Given the description of an element on the screen output the (x, y) to click on. 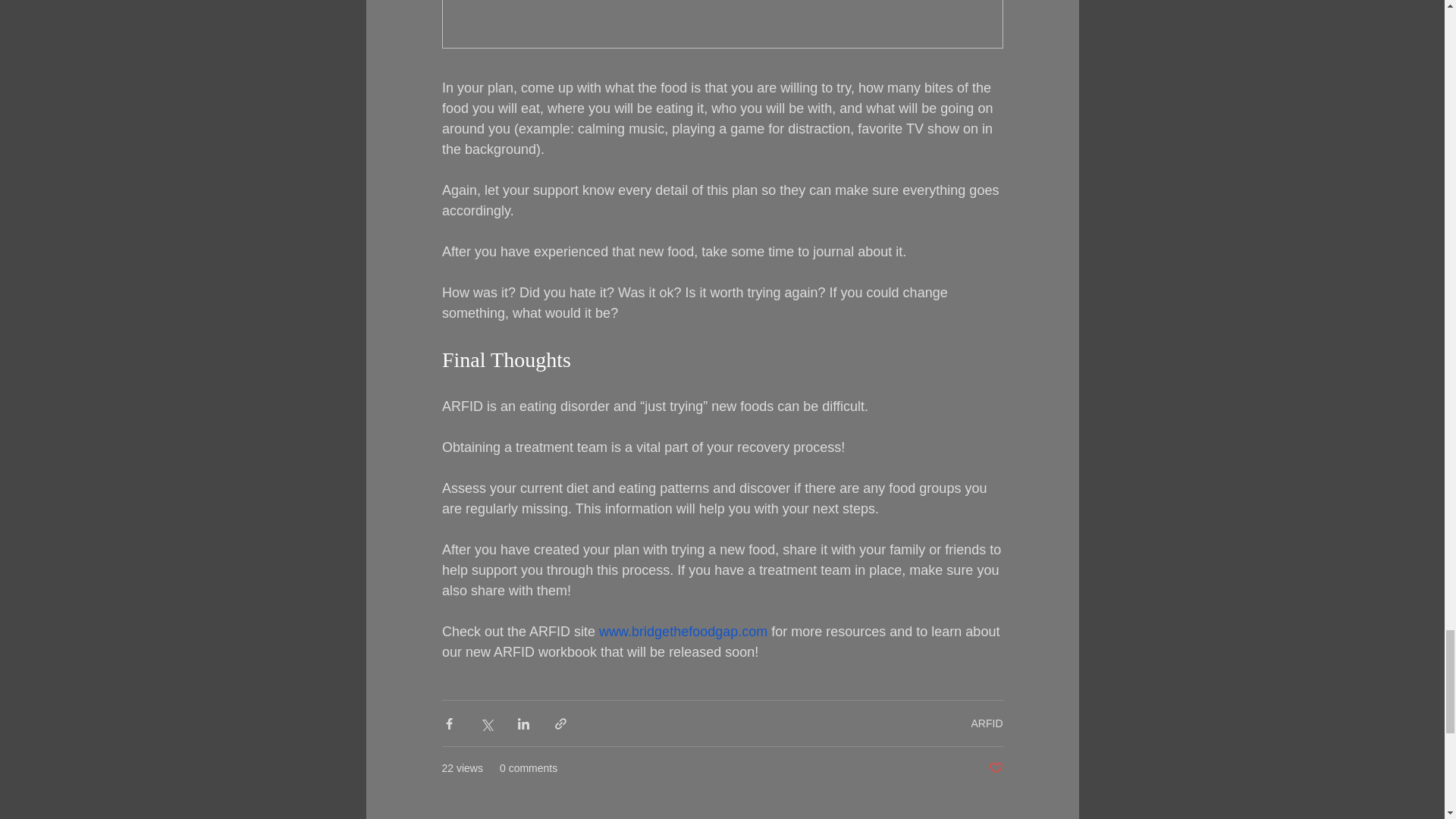
ARFID (987, 723)
www.bridgethefoodgap.com (682, 630)
Post not marked as liked (995, 768)
